Given the description of an element on the screen output the (x, y) to click on. 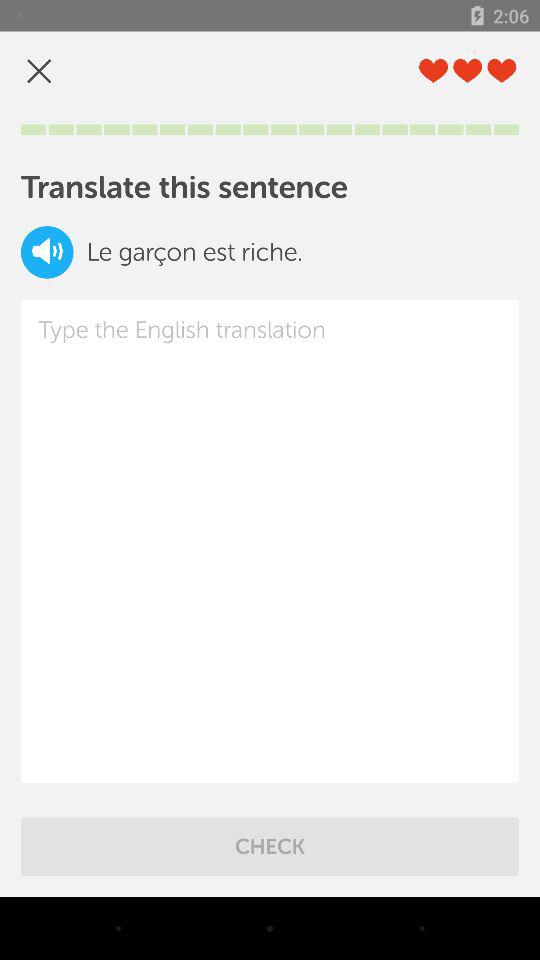
flip to check item (270, 846)
